Given the description of an element on the screen output the (x, y) to click on. 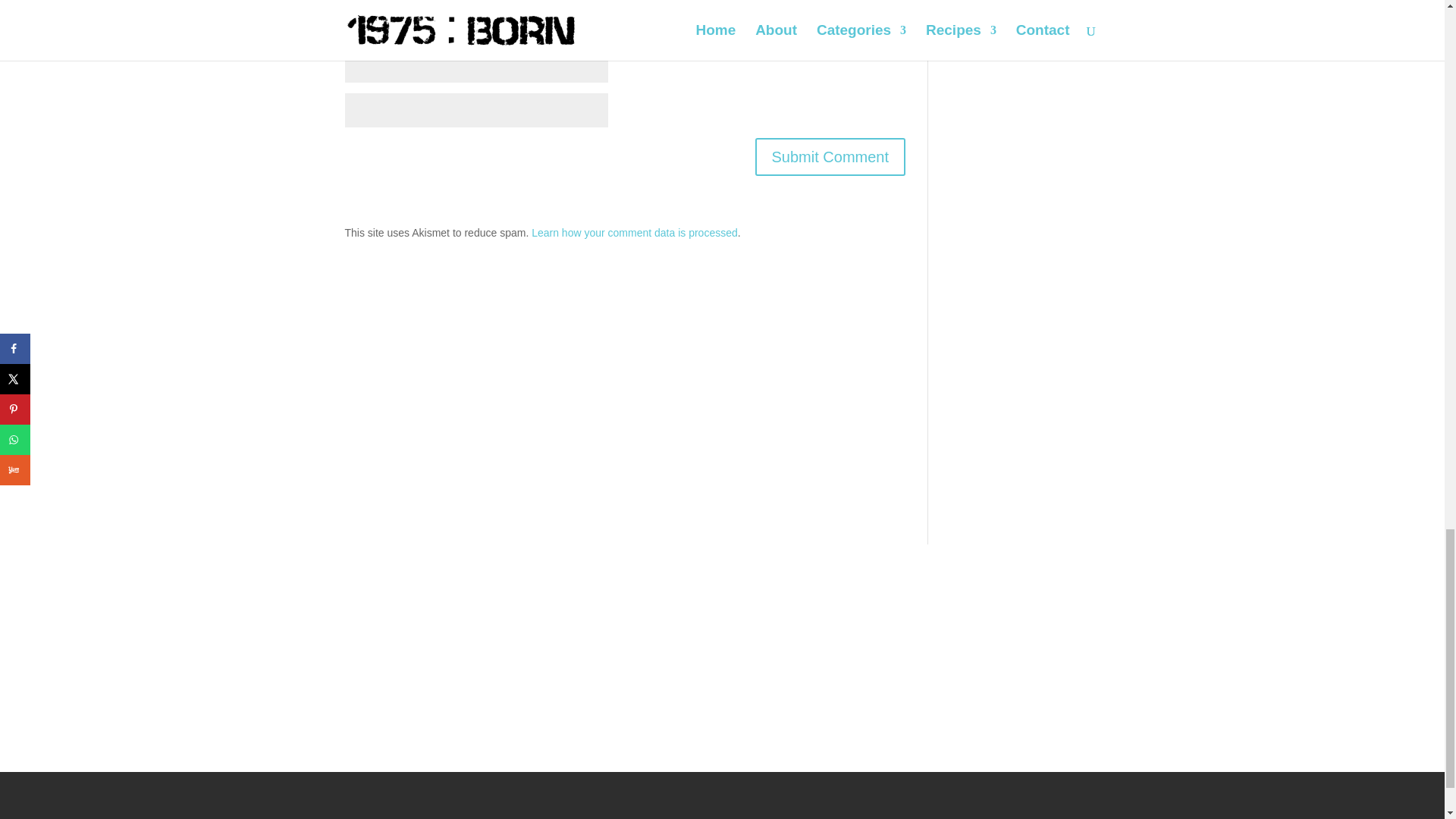
Submit Comment (830, 157)
